Given the description of an element on the screen output the (x, y) to click on. 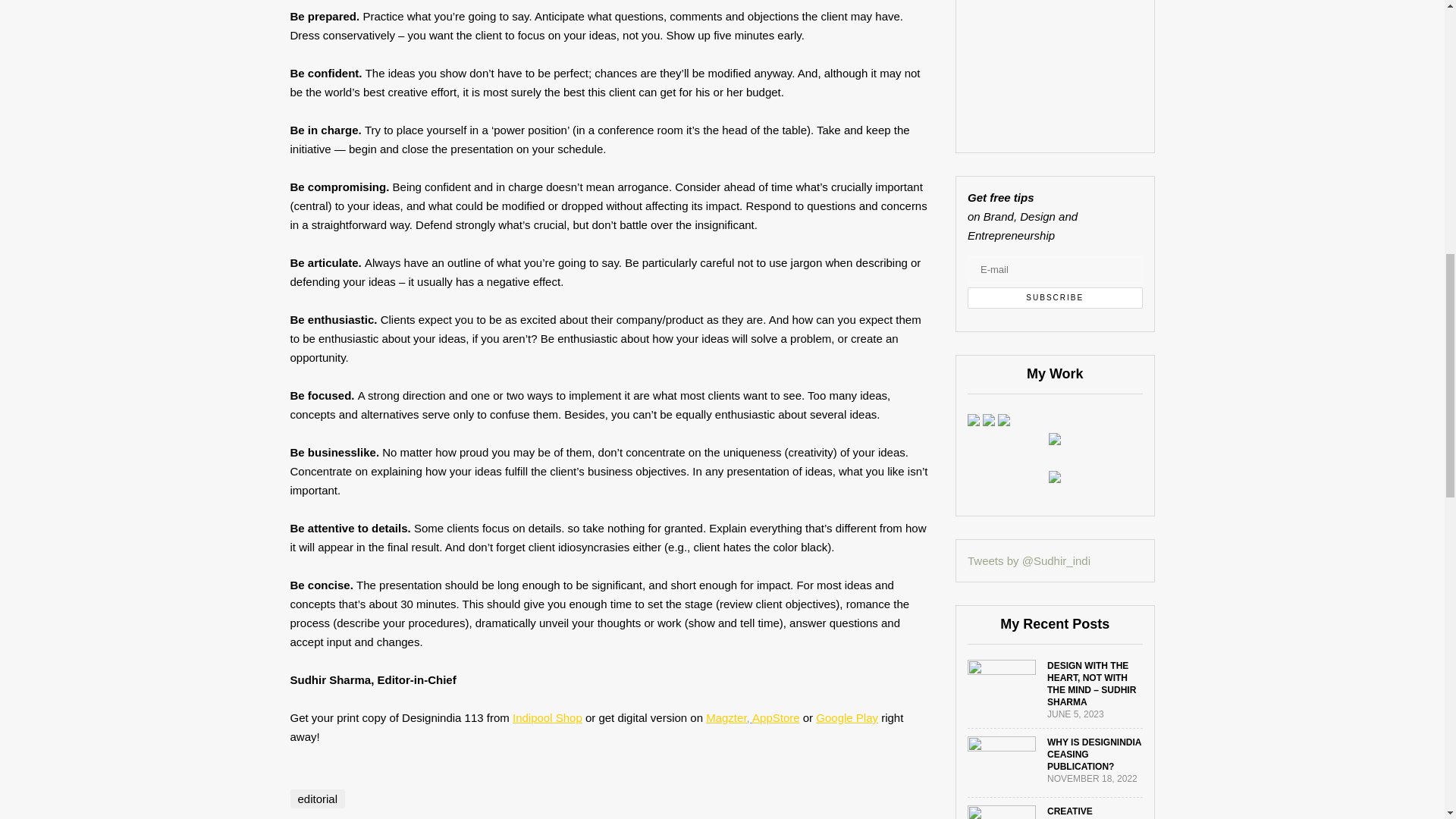
editorial (317, 798)
Subscribe (1055, 297)
AppStore (775, 717)
Google Play (846, 717)
Magzter, (729, 717)
Indipool Shop (547, 717)
